Given the description of an element on the screen output the (x, y) to click on. 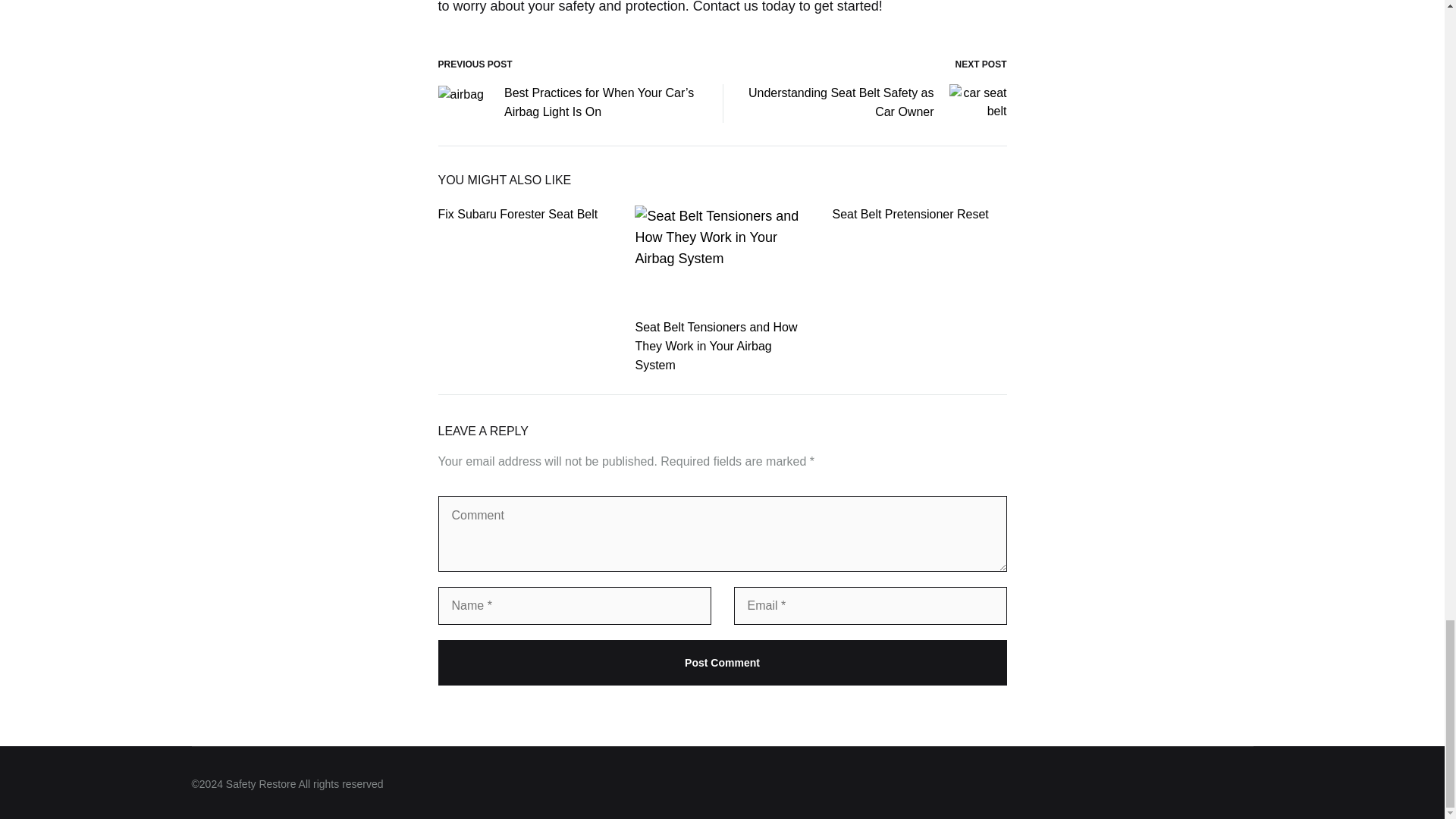
Seat Belt Pretensioner Reset (909, 214)
Post Comment (722, 662)
Post Comment (722, 662)
Fix Subaru Forester Seat Belt (518, 214)
Understanding Seat Belt Safety as Car Owner (876, 103)
Seat Belt Tensioners and How They Work in Your Airbag System (715, 346)
